Given the description of an element on the screen output the (x, y) to click on. 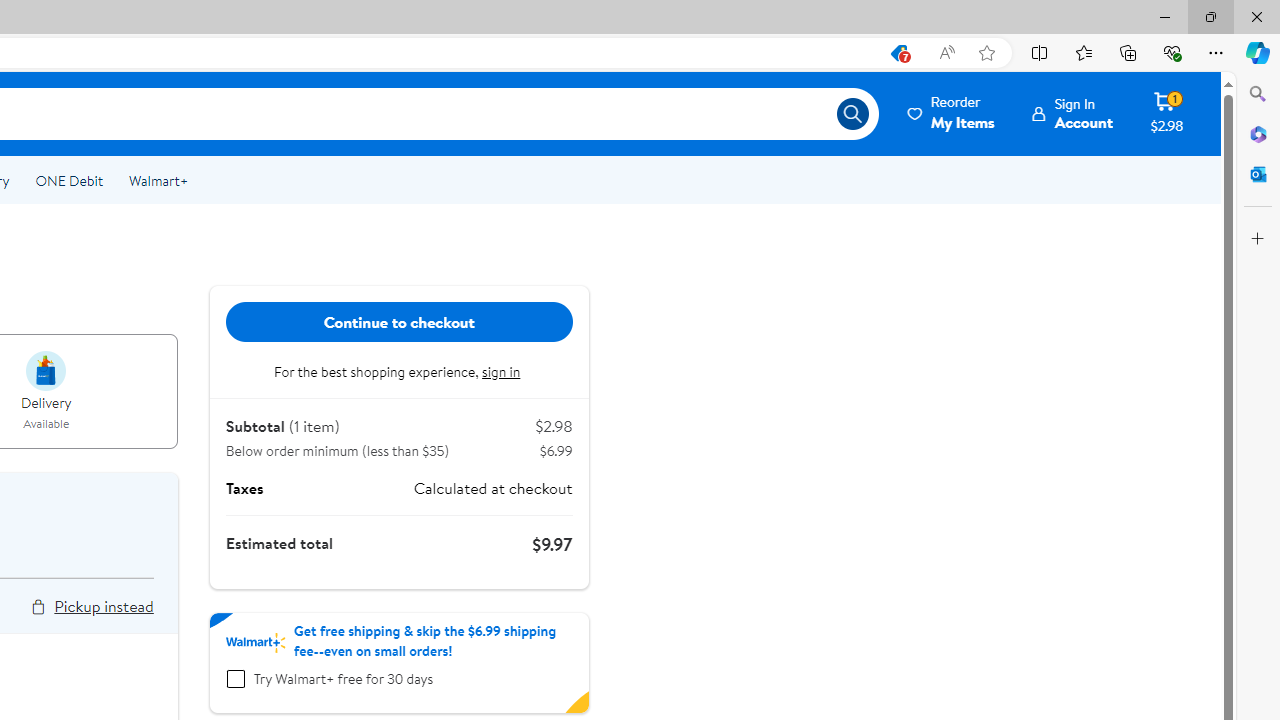
ONE Debit (68, 180)
